Given the description of an element on the screen output the (x, y) to click on. 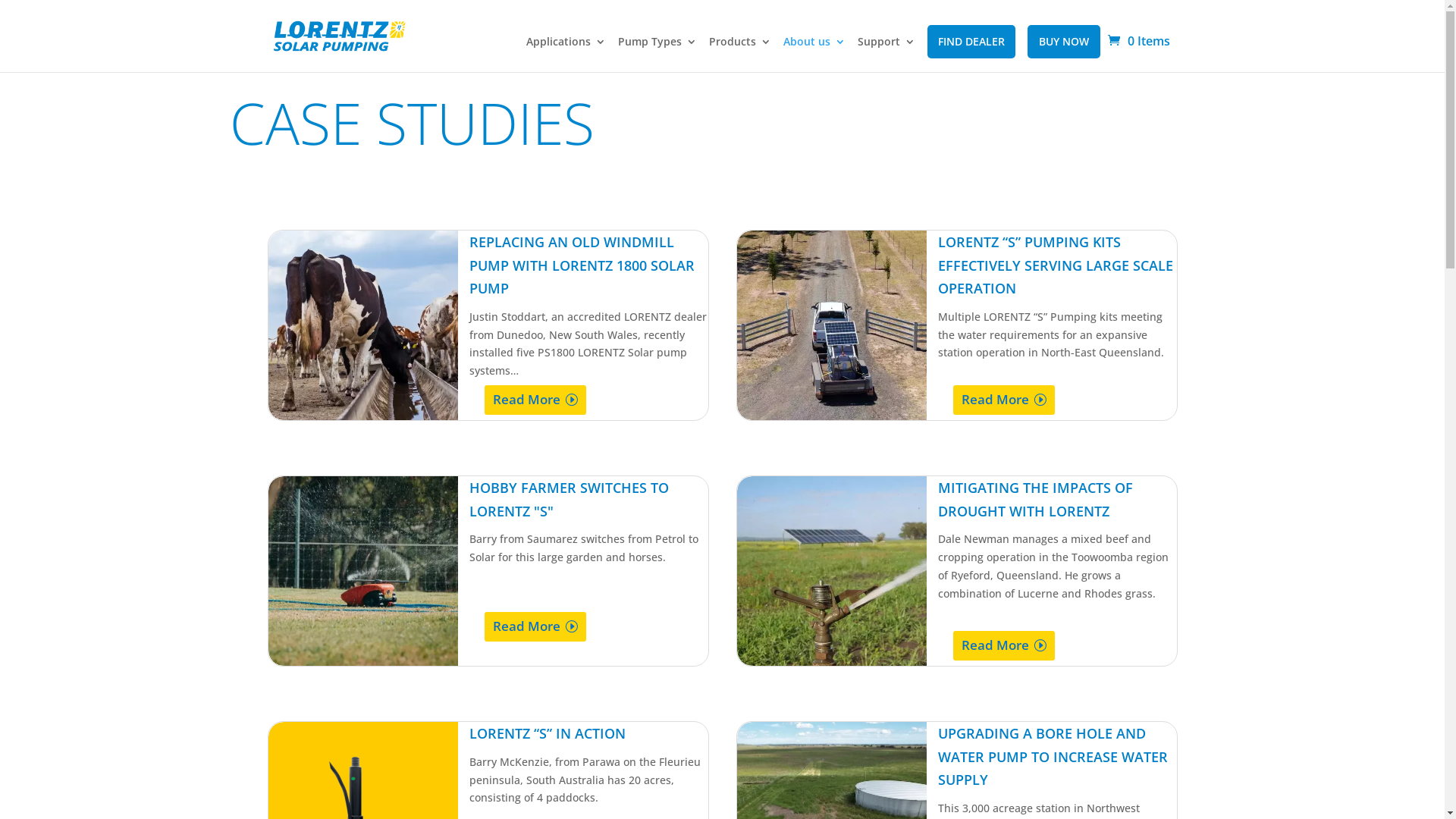
Read More Element type: text (535, 626)
About us Element type: text (813, 54)
Support Element type: text (885, 54)
Read More Element type: text (535, 399)
FIND DEALER Element type: text (970, 41)
Applications Element type: text (565, 54)
Products Element type: text (739, 54)
REPLACING AN OLD WINDMILL PUMP WITH LORENTZ 1800 SOLAR PUMP Element type: text (580, 264)
BUY NOW Element type: text (1062, 41)
Pump Types Element type: text (656, 54)
0 Items Element type: text (1138, 41)
Read More Element type: text (1004, 399)
Read More Element type: text (1004, 645)
